Given the description of an element on the screen output the (x, y) to click on. 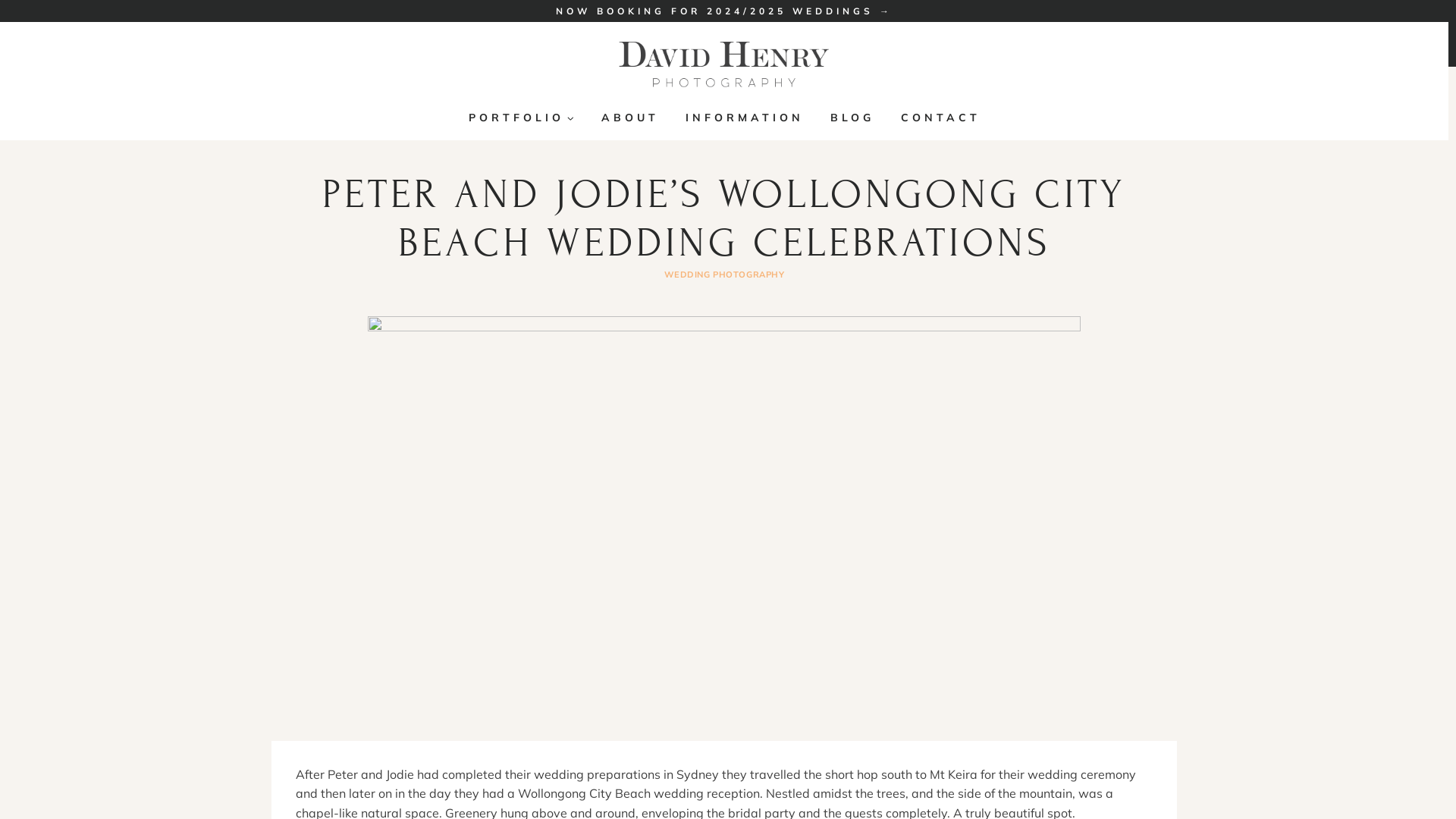
ABOUT Element type: text (629, 117)
INFORMATION Element type: text (743, 117)
WEDDING PHOTOGRAPHY Element type: text (724, 274)
CONTACT Element type: text (940, 117)
PORTFOLIO Element type: text (521, 117)
BLOG Element type: text (851, 117)
